Given the description of an element on the screen output the (x, y) to click on. 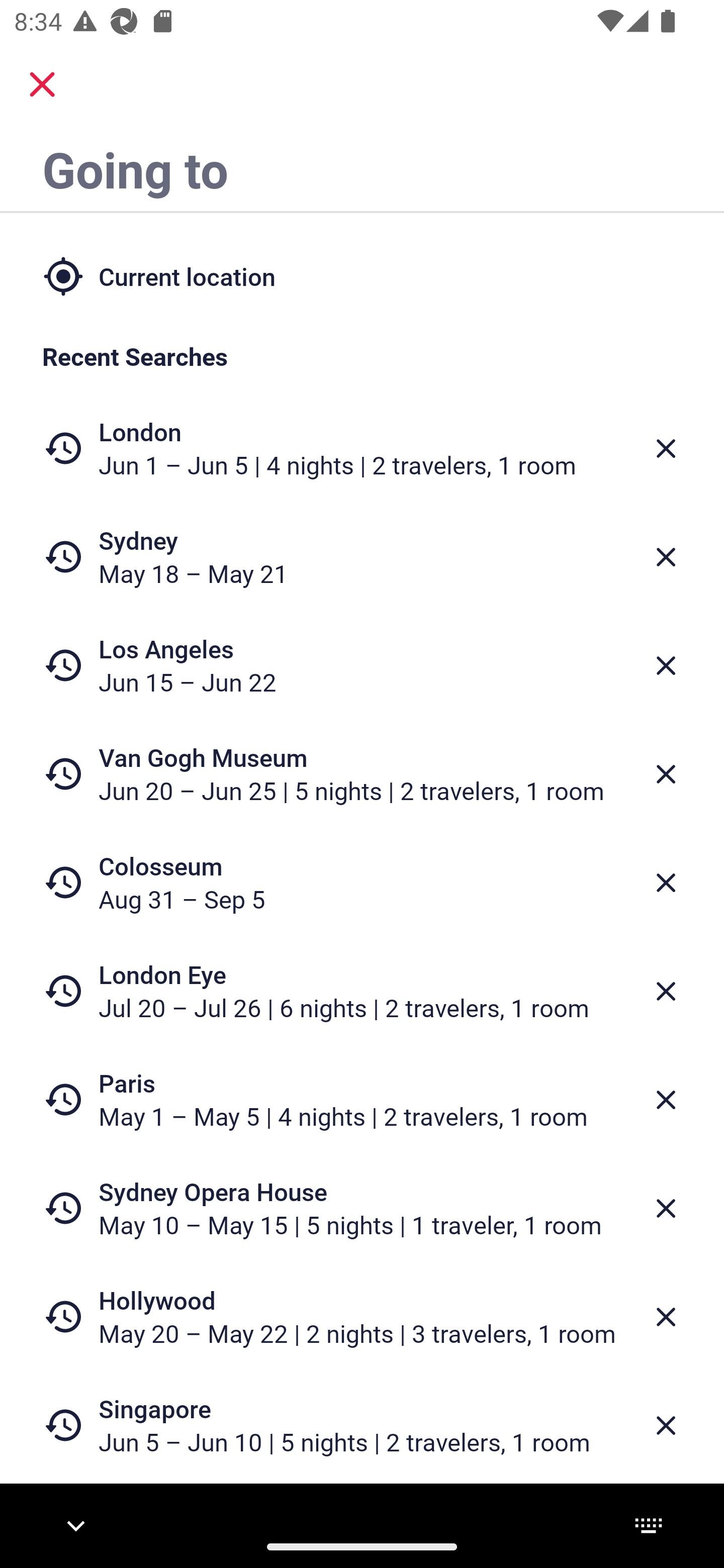
close. (42, 84)
Current location (362, 275)
Delete from recent searches (666, 448)
Sydney May 18 – May 21 (362, 557)
Delete from recent searches (666, 556)
Los Angeles Jun 15 – Jun 22 (362, 665)
Delete from recent searches (666, 666)
Delete from recent searches (666, 774)
Colosseum Aug 31 – Sep 5 (362, 881)
Delete from recent searches (666, 882)
Delete from recent searches (666, 990)
Delete from recent searches (666, 1100)
Delete from recent searches (666, 1208)
Delete from recent searches (666, 1316)
Delete from recent searches (666, 1424)
